Given the description of an element on the screen output the (x, y) to click on. 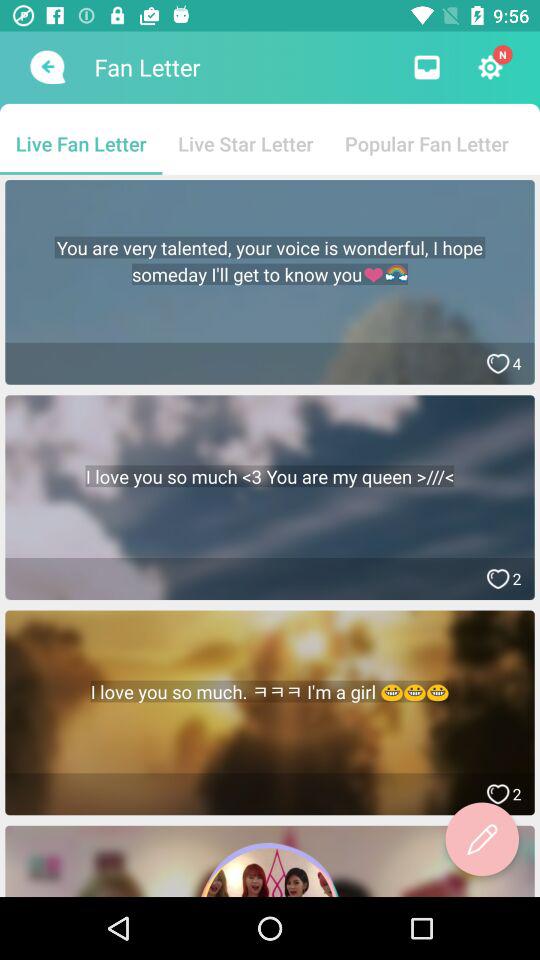
click the item to the left of the fan letter icon (45, 67)
